Given the description of an element on the screen output the (x, y) to click on. 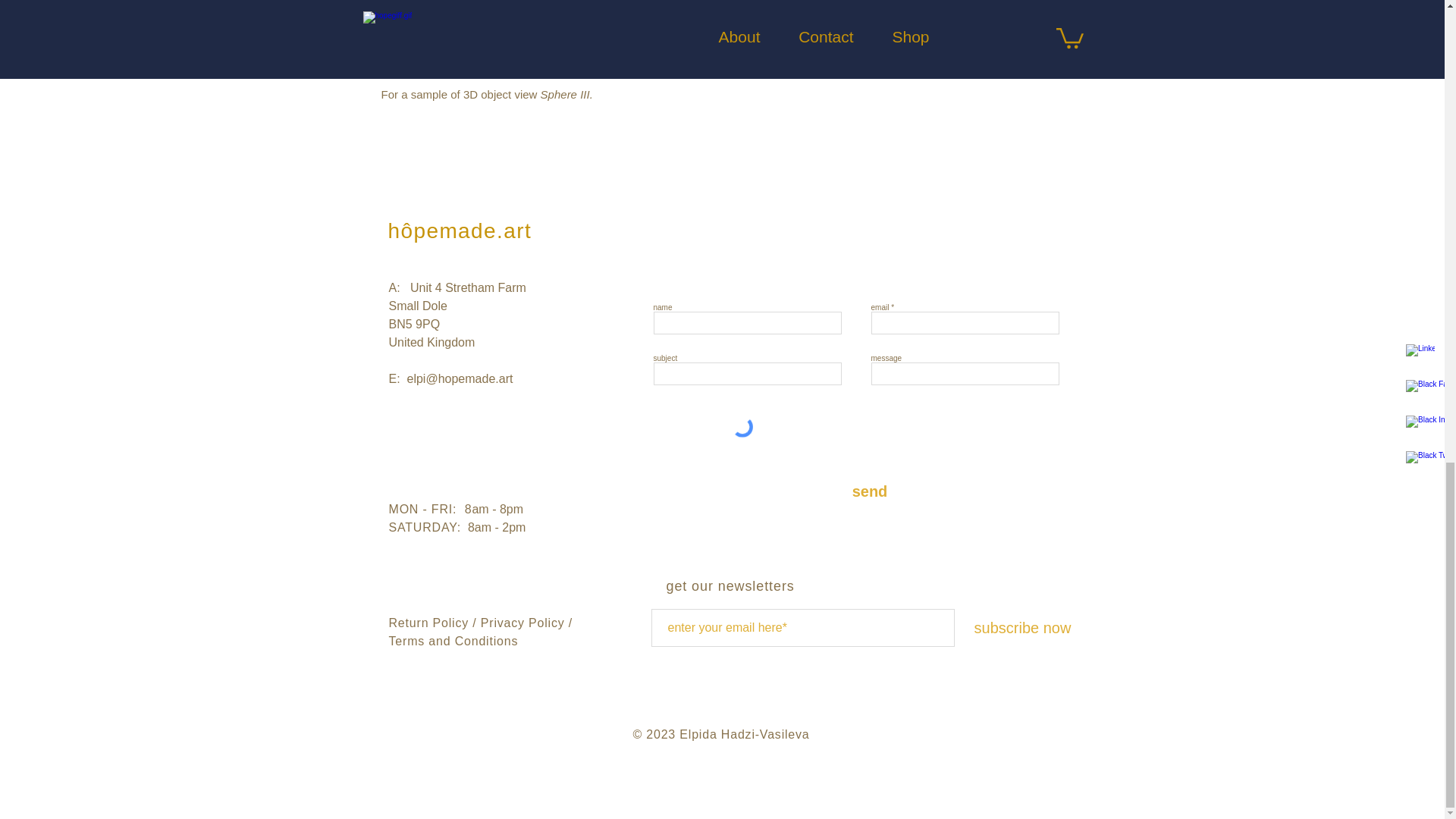
send (869, 491)
subscribe now (1021, 628)
Privacy Policy  (524, 622)
Terms and Conditions (453, 640)
